Given the description of an element on the screen output the (x, y) to click on. 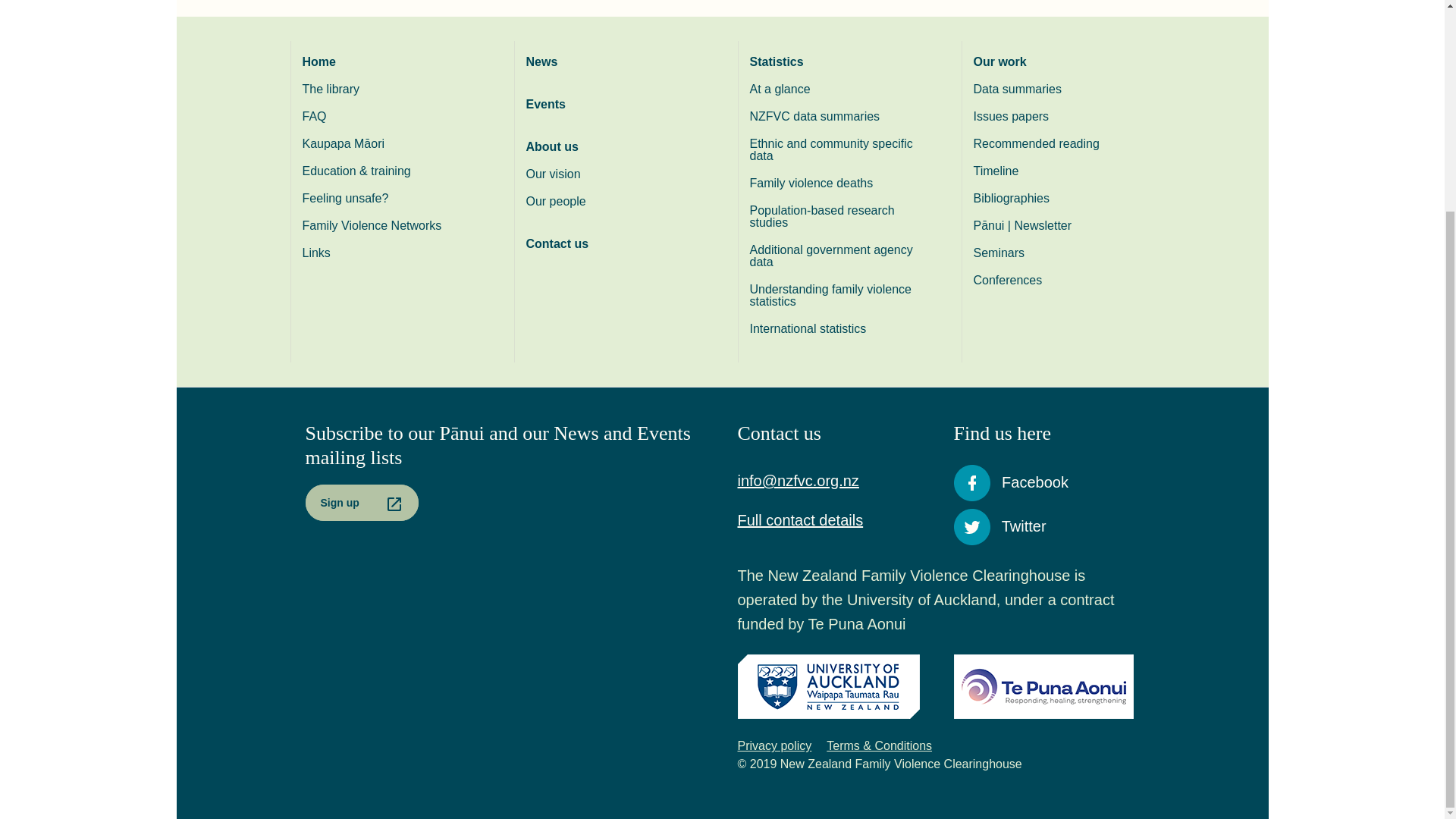
Feeling unsafe? (392, 198)
International statistics (839, 329)
About us (616, 146)
Population-based research studies (839, 216)
Family violence deaths (839, 183)
Statistics (839, 62)
Our vision (616, 174)
News (616, 62)
Additional government agency data (839, 256)
FAQ (392, 116)
NZFVC data summaries (839, 116)
Events (616, 103)
Our people (616, 201)
Links (392, 252)
The library (392, 89)
